Given the description of an element on the screen output the (x, y) to click on. 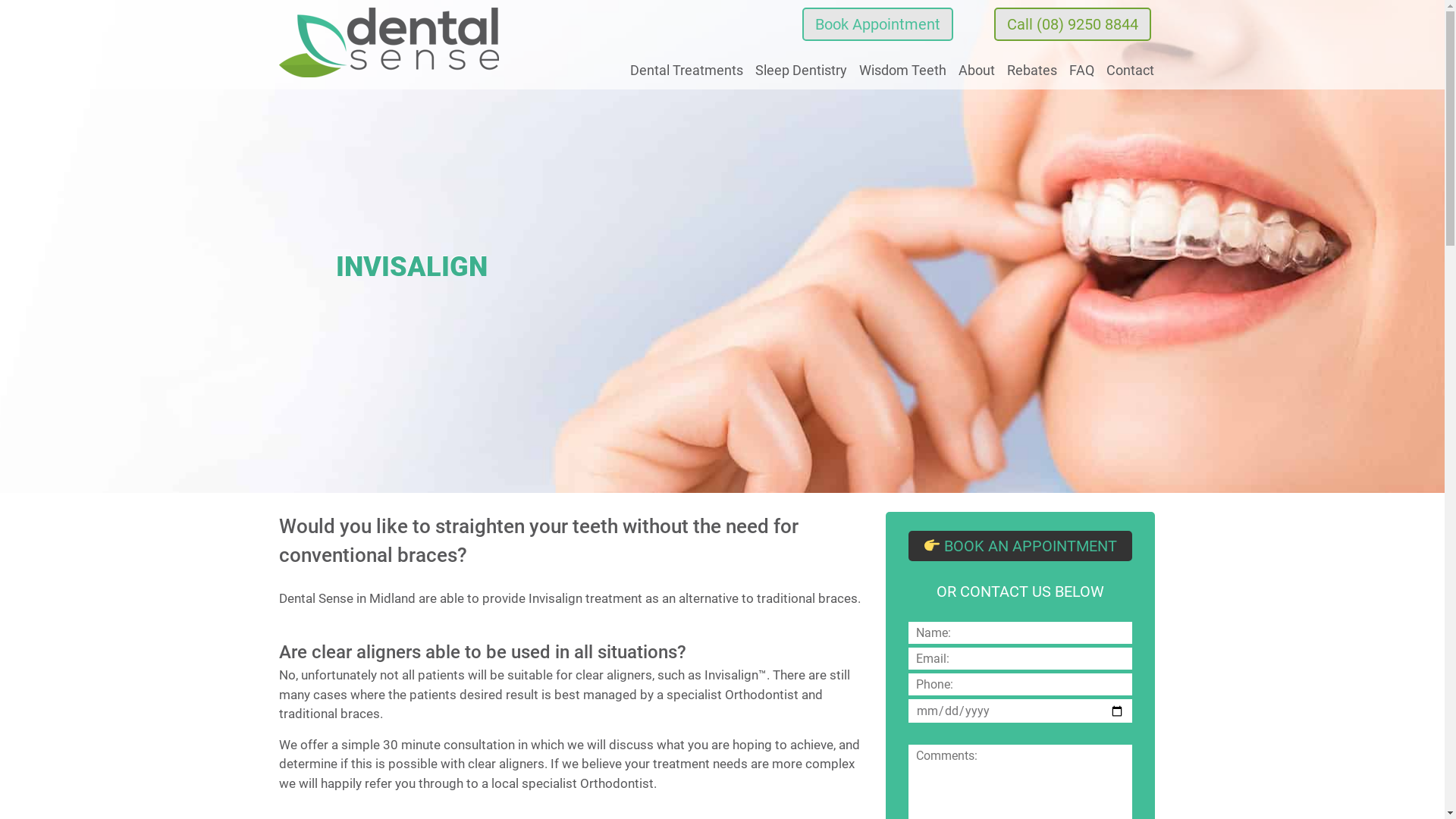
BOOK AN APPOINTMENT Element type: text (1020, 545)
Book Appointment Element type: text (877, 23)
FAQ Element type: text (1081, 70)
About Element type: text (976, 70)
Dental Treatments Element type: text (685, 70)
Contact Element type: text (1129, 70)
Rebates Element type: text (1032, 70)
Call (08) 9250 8844 Element type: text (1071, 23)
Wisdom Teeth Element type: text (901, 70)
Sleep Dentistry Element type: text (801, 70)
